Given the description of an element on the screen output the (x, y) to click on. 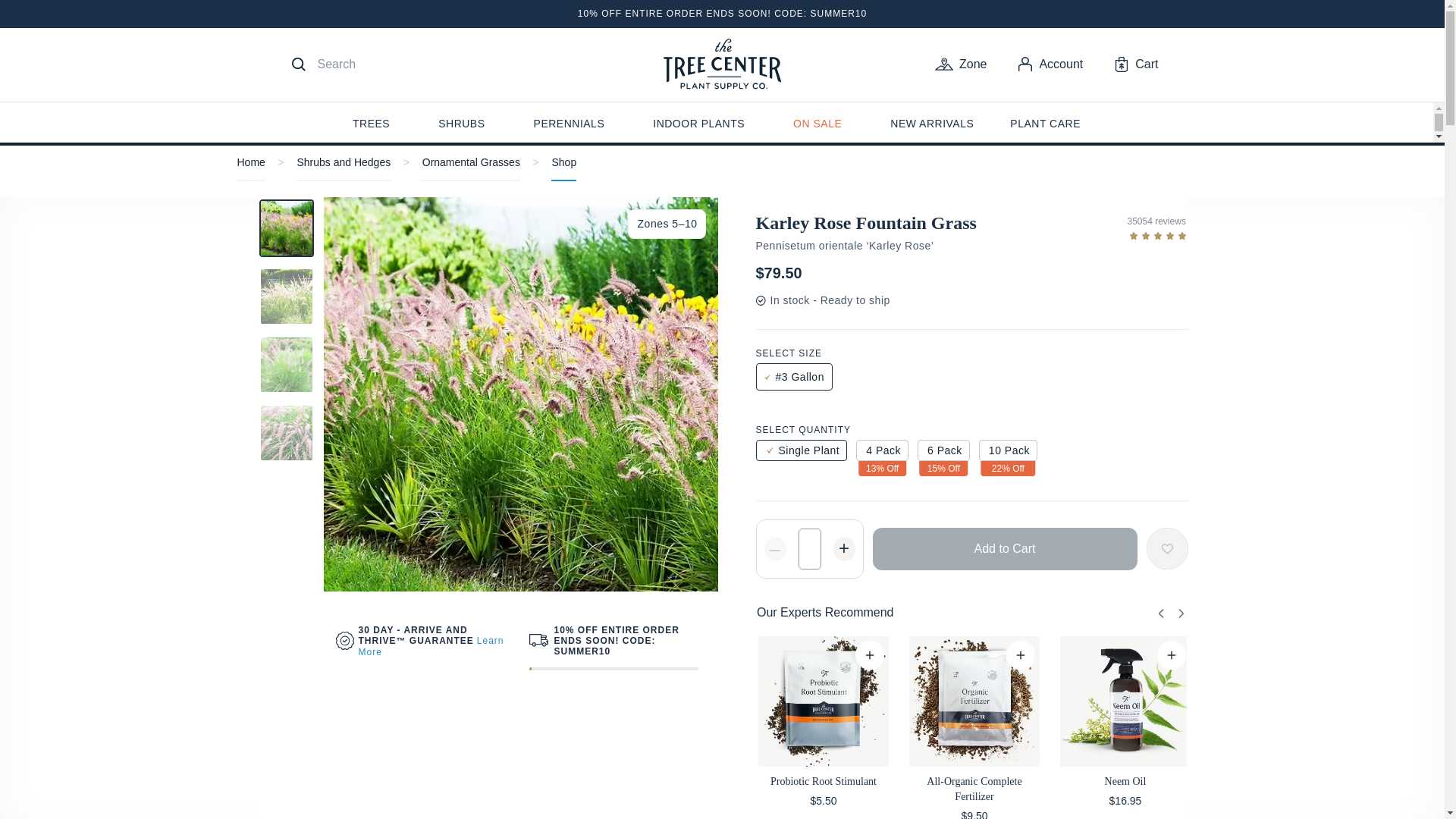
TREES (370, 125)
Account (1049, 64)
0 (1032, 654)
Zone (960, 64)
0 (880, 654)
0 (1182, 654)
Cart (1135, 64)
